Given the description of an element on the screen output the (x, y) to click on. 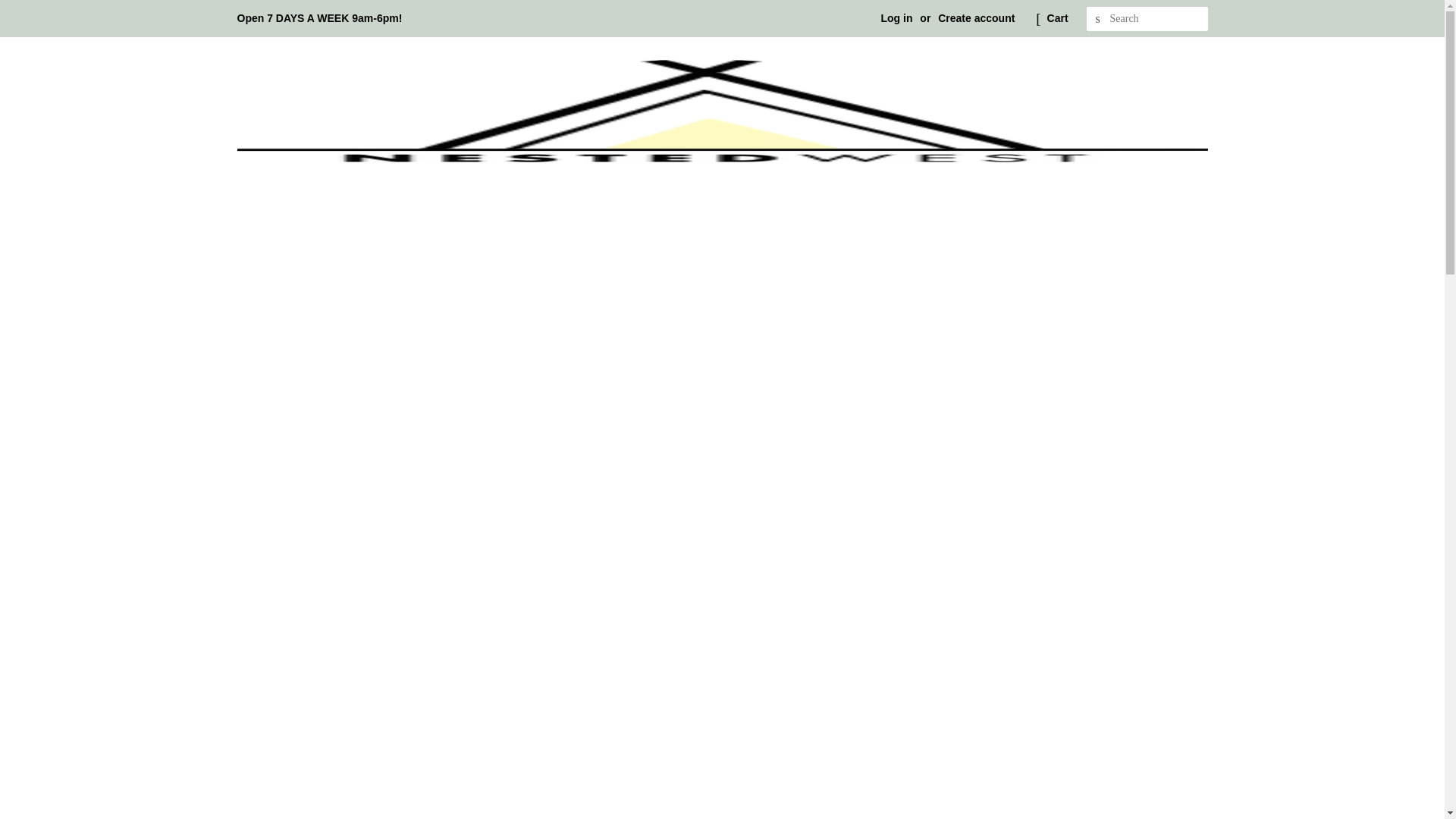
Cart (1057, 18)
Create account (975, 18)
SEARCH (1097, 18)
Log in (896, 18)
